Given the description of an element on the screen output the (x, y) to click on. 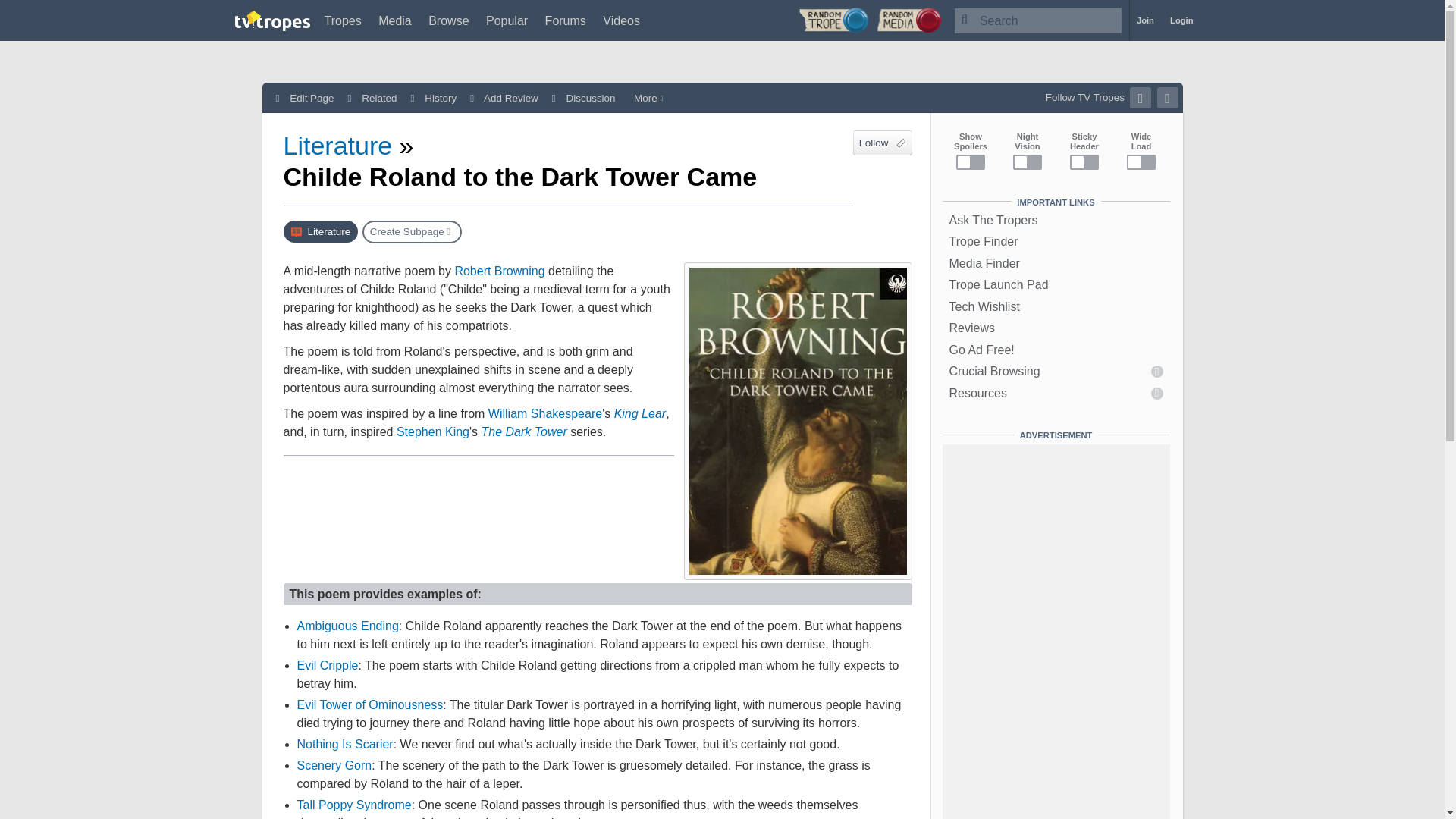
Login (1181, 20)
Popular (506, 20)
Tropes (342, 20)
Browse (448, 20)
Videos (621, 20)
Forums (565, 20)
Media (395, 20)
The Literature page (320, 231)
